Given the description of an element on the screen output the (x, y) to click on. 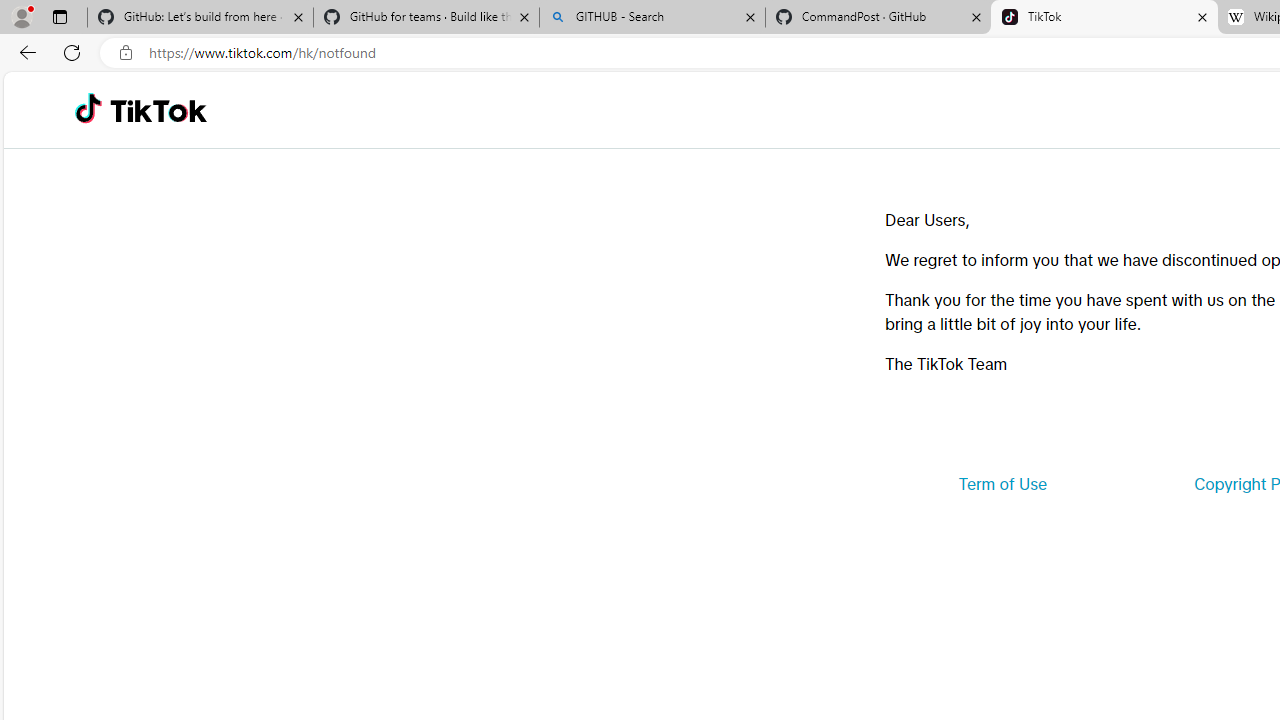
Term of Use (1002, 484)
GITHUB - Search (652, 17)
